Given the description of an element on the screen output the (x, y) to click on. 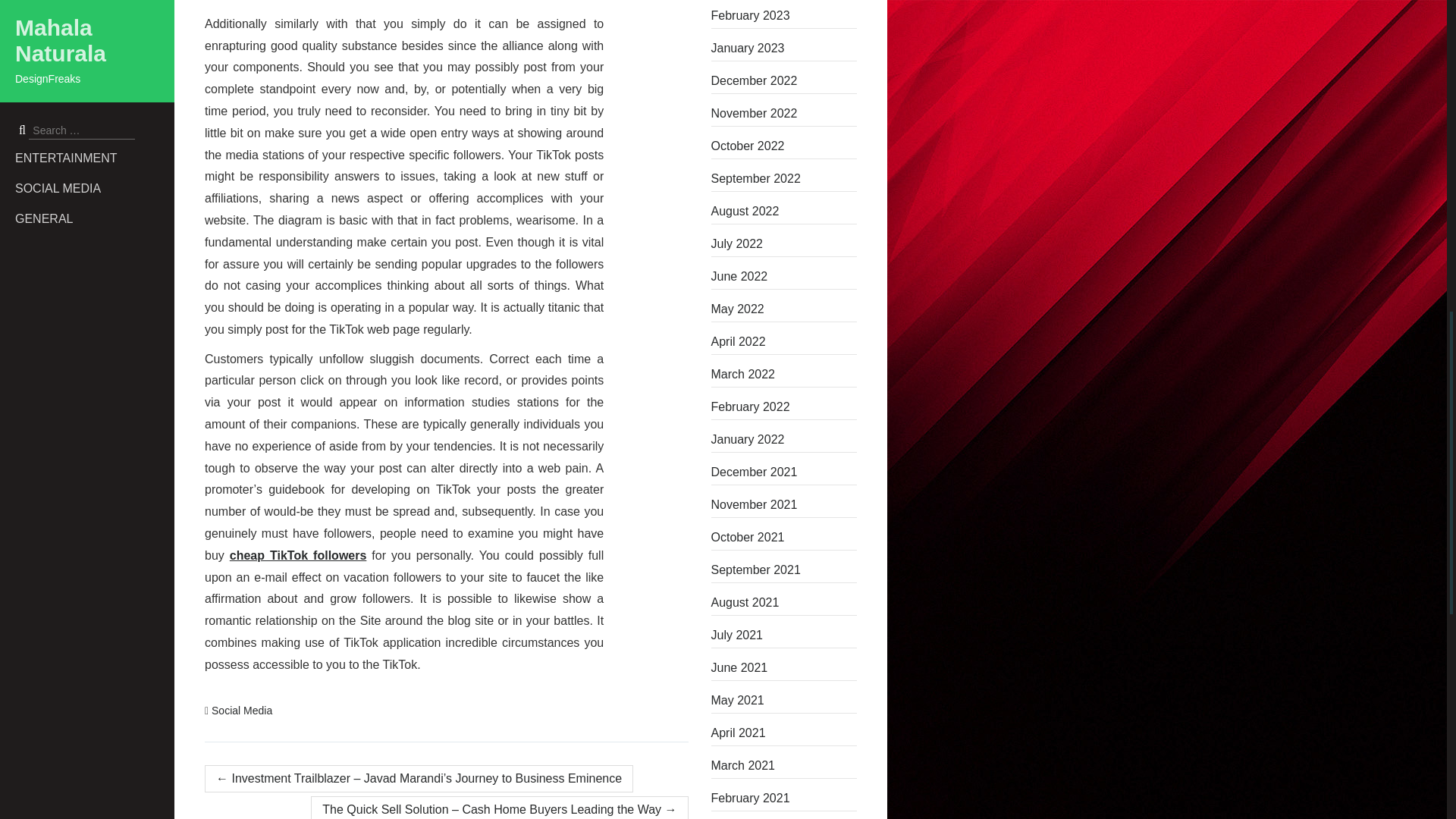
May 2022 (784, 309)
November 2022 (784, 113)
October 2022 (784, 146)
August 2022 (784, 211)
June 2022 (784, 276)
December 2022 (784, 80)
cheap TikTok followers (298, 554)
January 2023 (784, 48)
September 2022 (784, 178)
Social Media (241, 710)
February 2023 (784, 15)
July 2022 (784, 243)
